Given the description of an element on the screen output the (x, y) to click on. 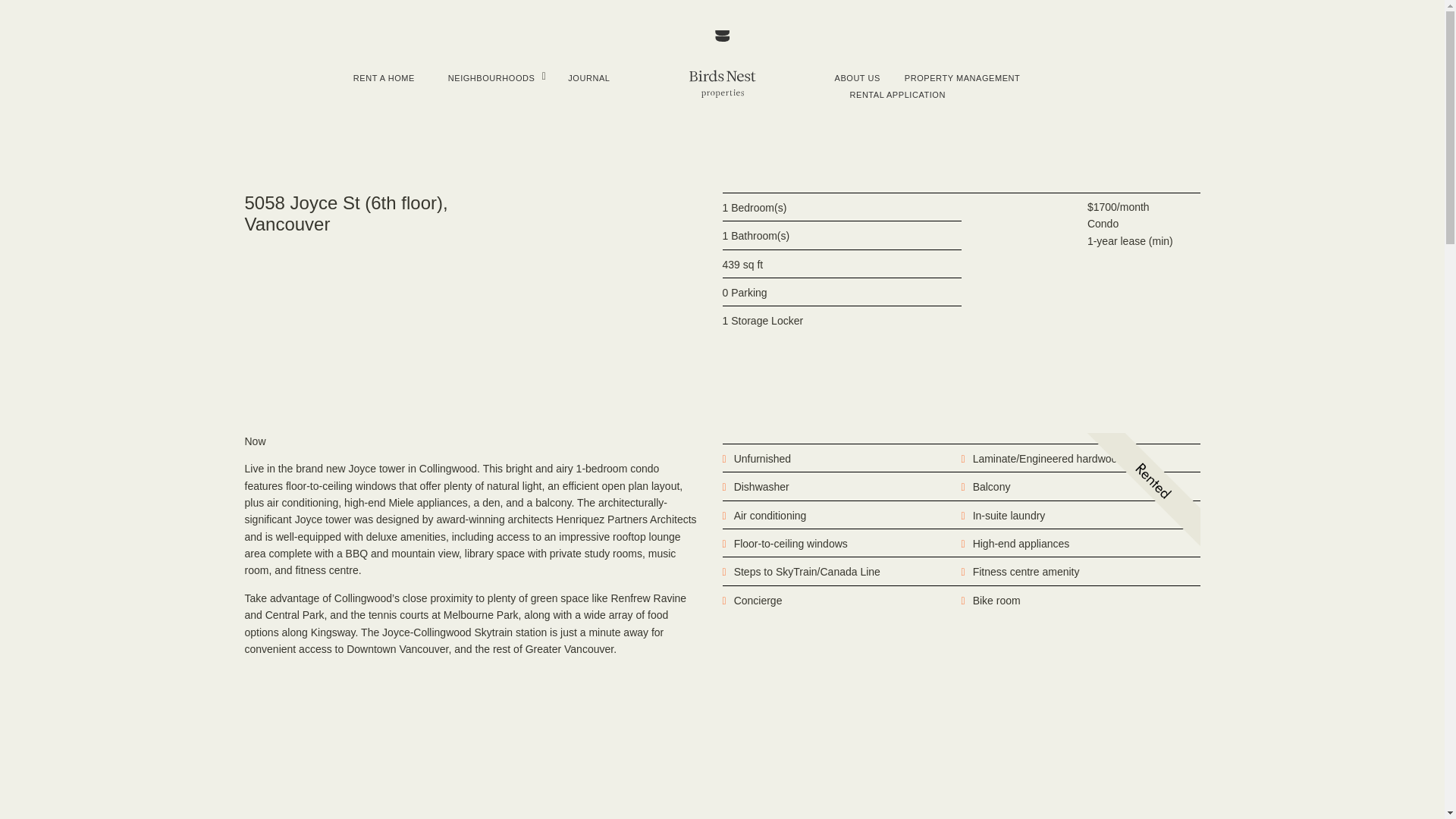
ABOUT US Element type: text (856, 77)
RENT A HOME Element type: text (383, 77)
JOURNAL Element type: text (588, 77)
PROPERTY MANAGEMENT Element type: text (961, 77)
NEIGHBOURHOODS Element type: text (491, 77)
RENTAL APPLICATION Element type: text (896, 94)
